Given the description of an element on the screen output the (x, y) to click on. 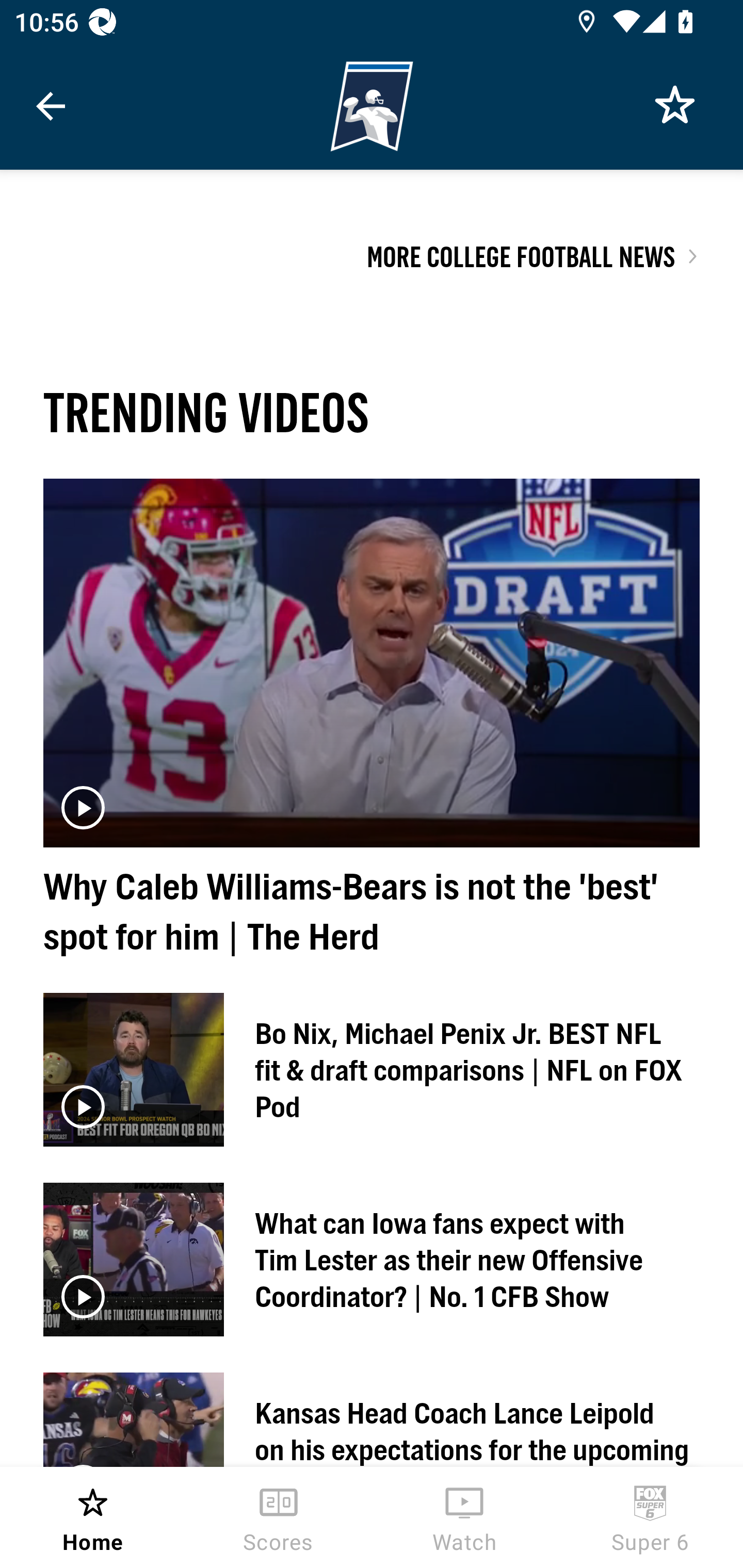
Navigate up (50, 106)
MORE COLLEGE FOOTBALL NEWS (520, 255)
Scores (278, 1517)
Watch (464, 1517)
Super 6 (650, 1517)
